Given the description of an element on the screen output the (x, y) to click on. 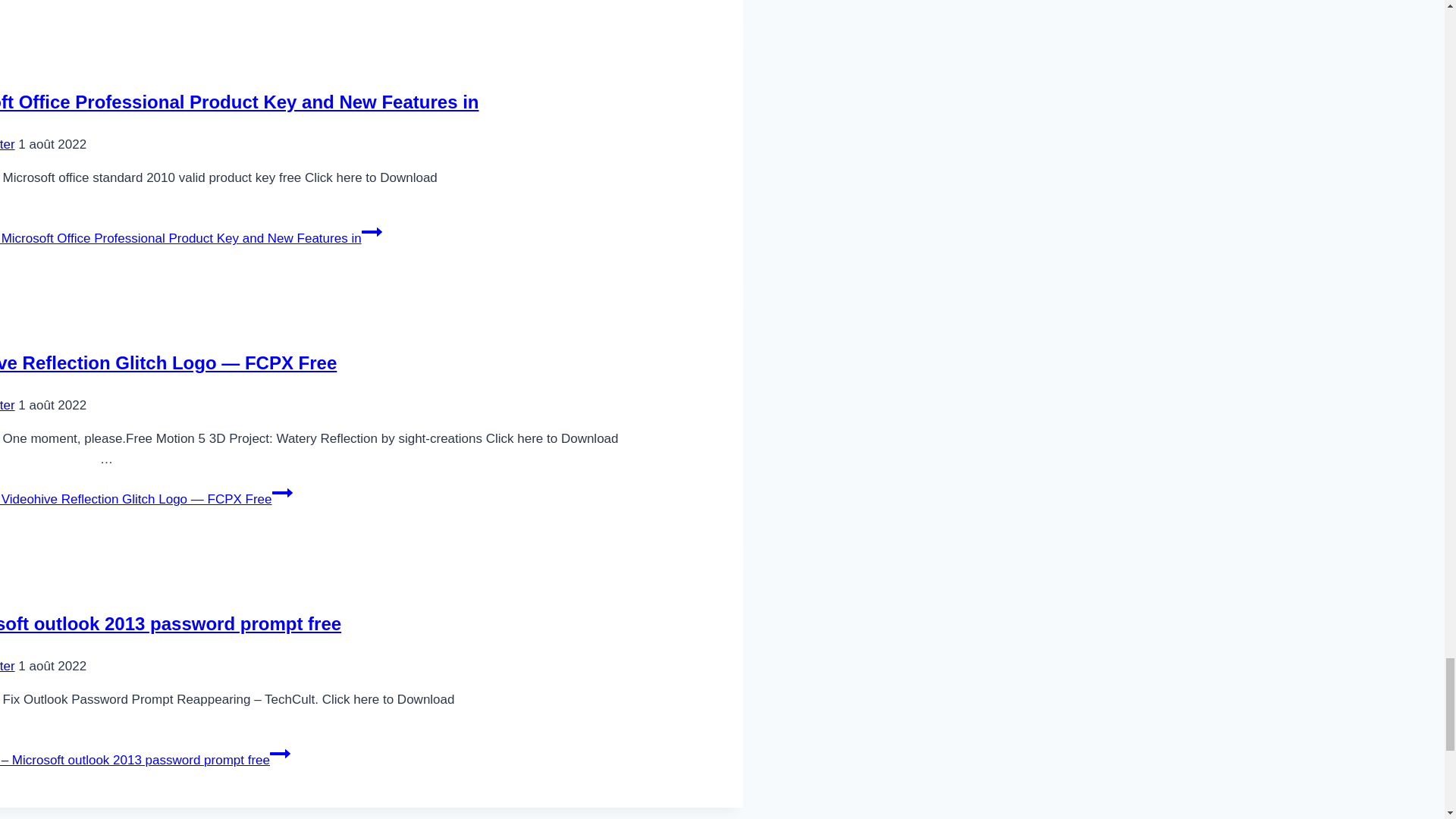
Continuer (279, 753)
Continuer (282, 492)
webmaster (7, 144)
Continuer (371, 231)
